Given the description of an element on the screen output the (x, y) to click on. 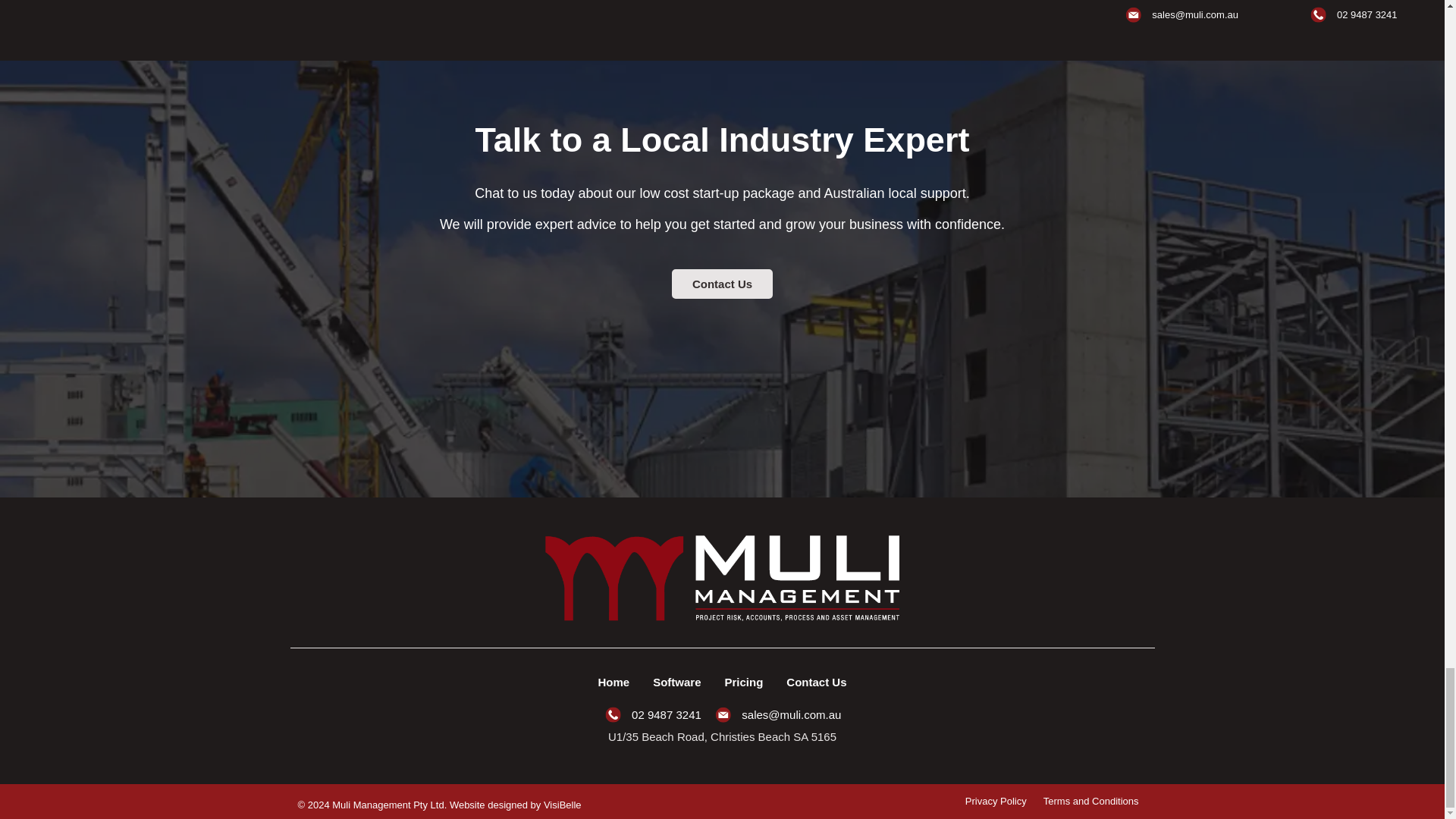
Contact Us (722, 283)
Pricing (743, 682)
Privacy Policy (995, 801)
Home (612, 682)
Website designed by VisiBelle (514, 804)
Terms and Conditions (1091, 801)
Contact Us (815, 682)
Software (676, 682)
02 9487 3241 (652, 714)
